Given the description of an element on the screen output the (x, y) to click on. 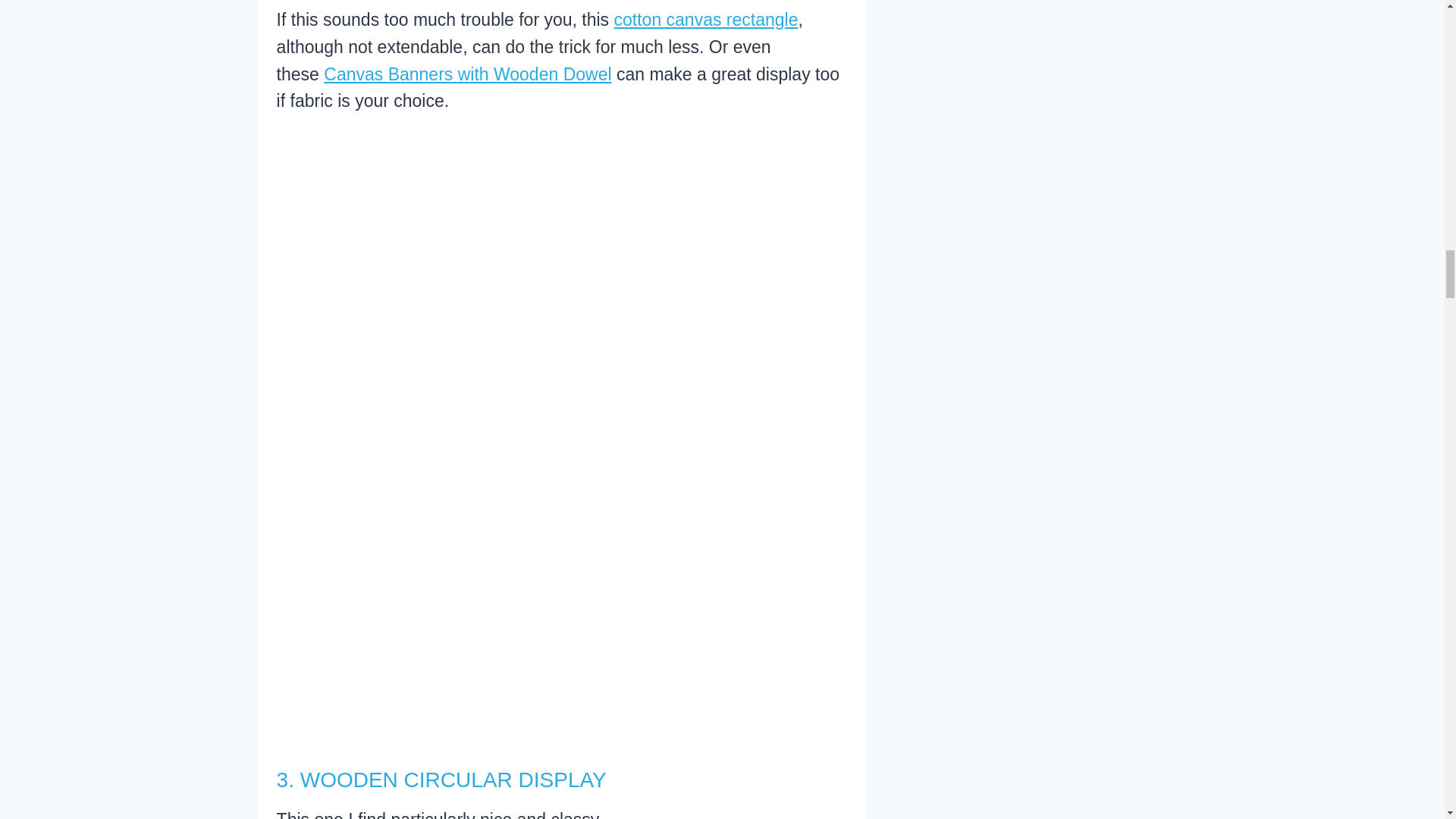
cotton canvas rectangle (705, 19)
Canvas Banners with Wooden Dowel (467, 74)
